Given the description of an element on the screen output the (x, y) to click on. 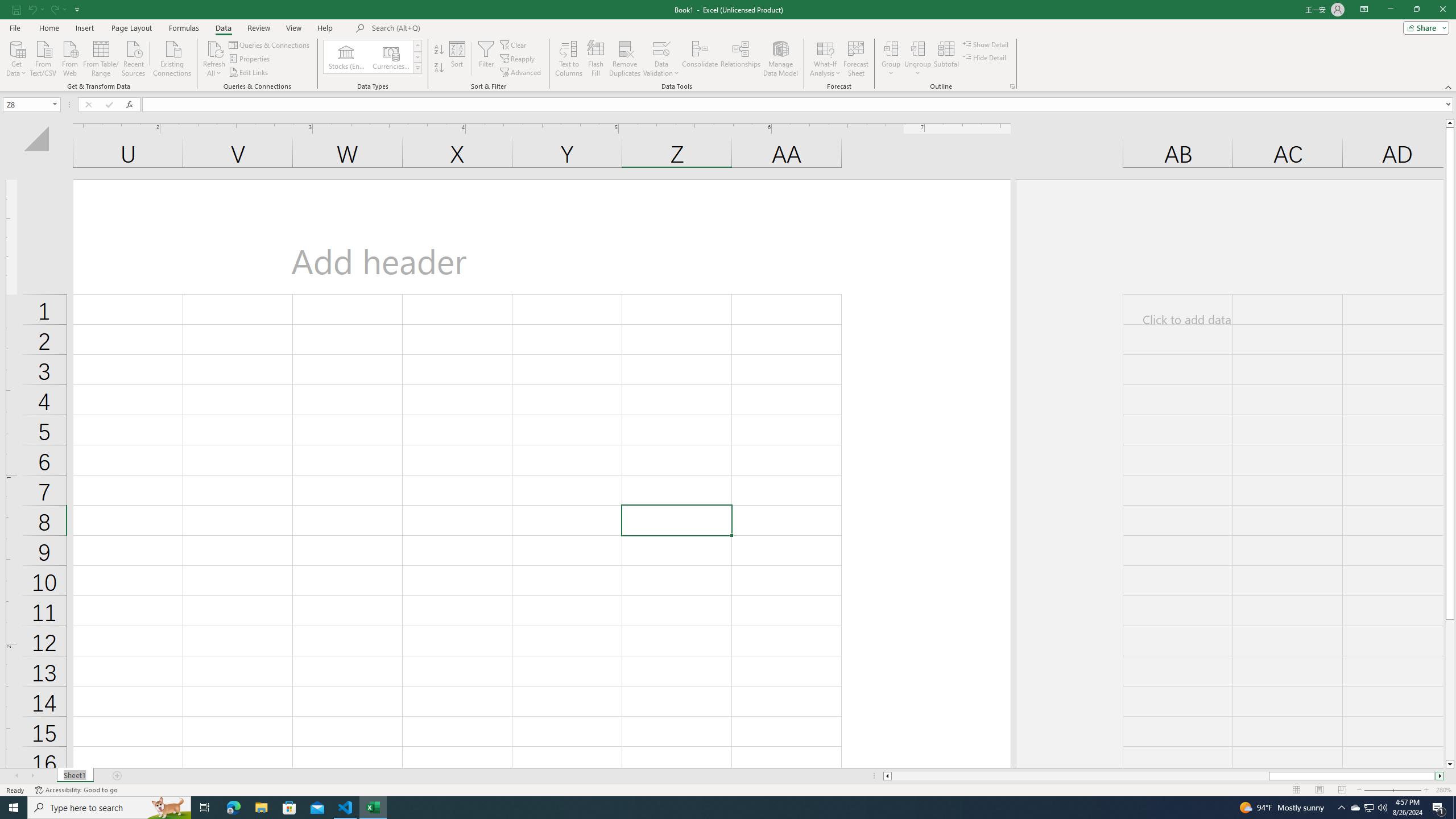
View (293, 28)
Data (223, 28)
Get Data (16, 57)
Microsoft search (450, 28)
Group and Outline Settings (1011, 85)
Restore Down (1416, 9)
Ungroup... (917, 58)
Sort A to Z (438, 49)
Customize Quick Access Toolbar (77, 9)
Row Down (417, 56)
Page Layout (1318, 790)
Quick Access Toolbar (46, 9)
Ribbon Display Options (1364, 9)
Undo (31, 9)
Row up (417, 45)
